Given the description of an element on the screen output the (x, y) to click on. 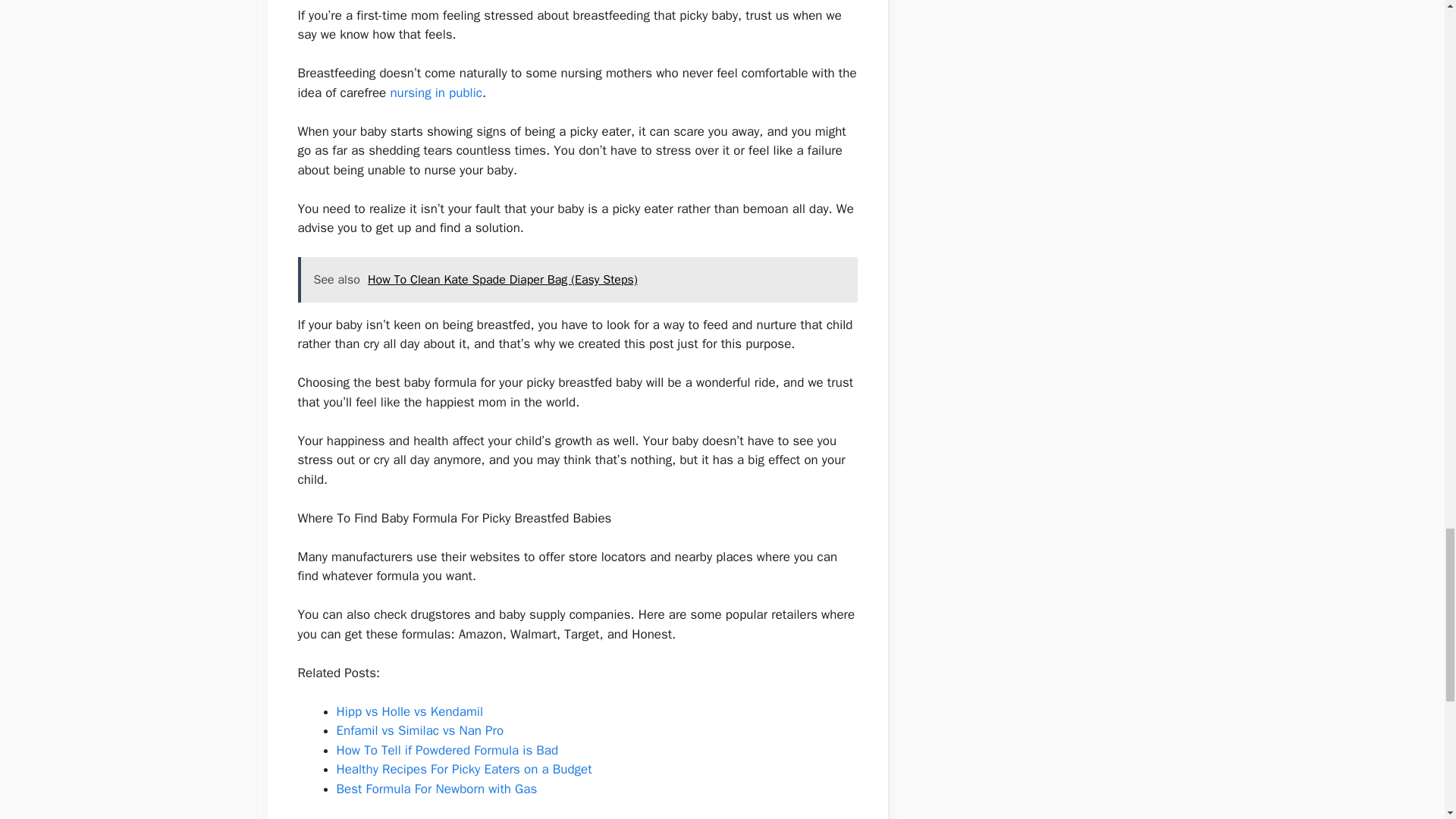
Hipp vs Holle vs Kendamil (409, 711)
Enfamil vs Similac vs Nan Pro (419, 730)
Best Formula For Newborn with Gas (436, 788)
How To Tell if Powdered Formula is Bad (447, 750)
nursing in public (435, 92)
Healthy Recipes For Picky Eaters on a Budget (464, 769)
